Given the description of an element on the screen output the (x, y) to click on. 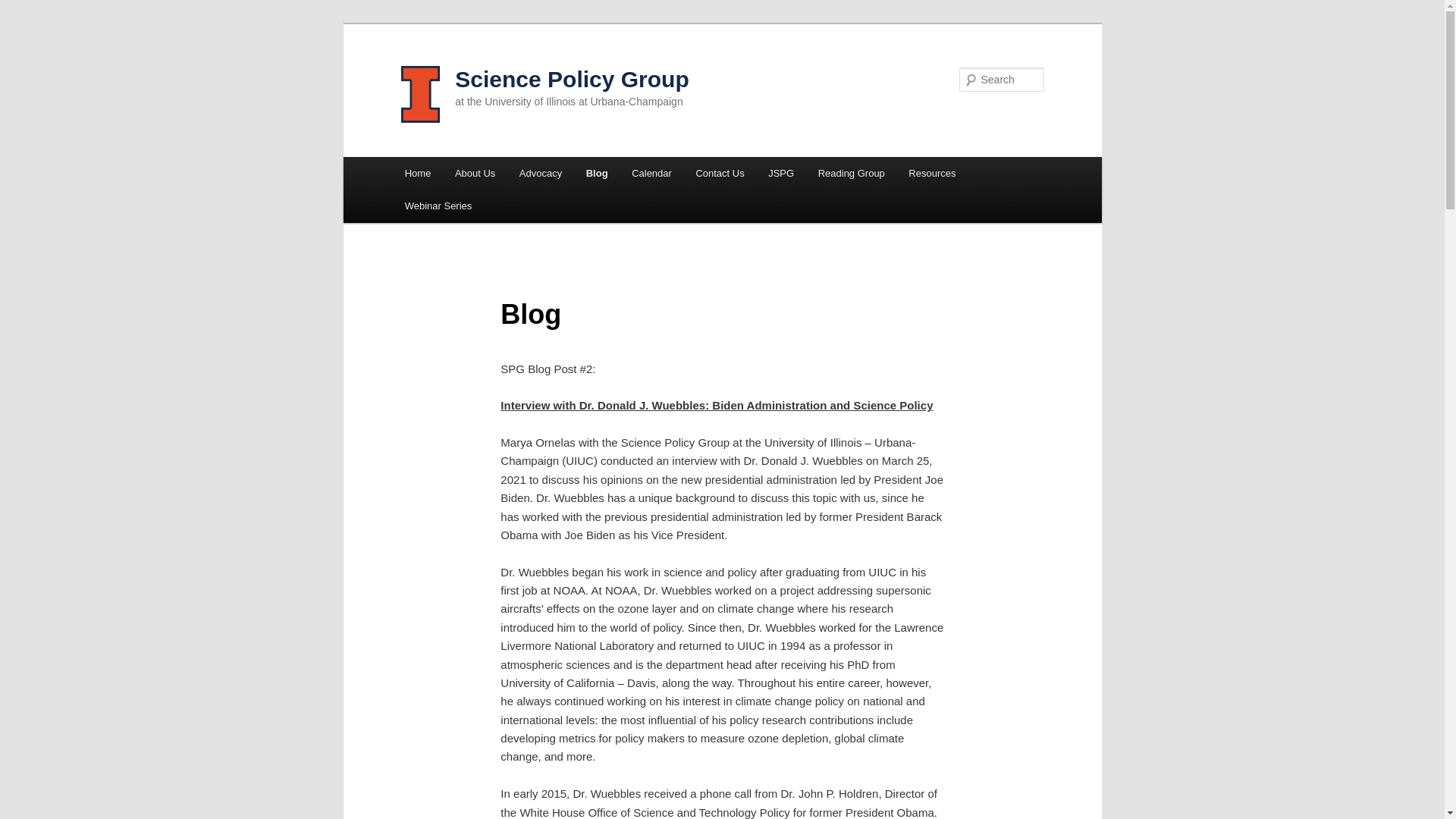
Search (24, 8)
Blog (596, 173)
About Us (474, 173)
Advocacy (539, 173)
Reading Group (851, 173)
Home (417, 173)
JSPG (780, 173)
Science Policy Group (571, 78)
Resources (932, 173)
